Given the description of an element on the screen output the (x, y) to click on. 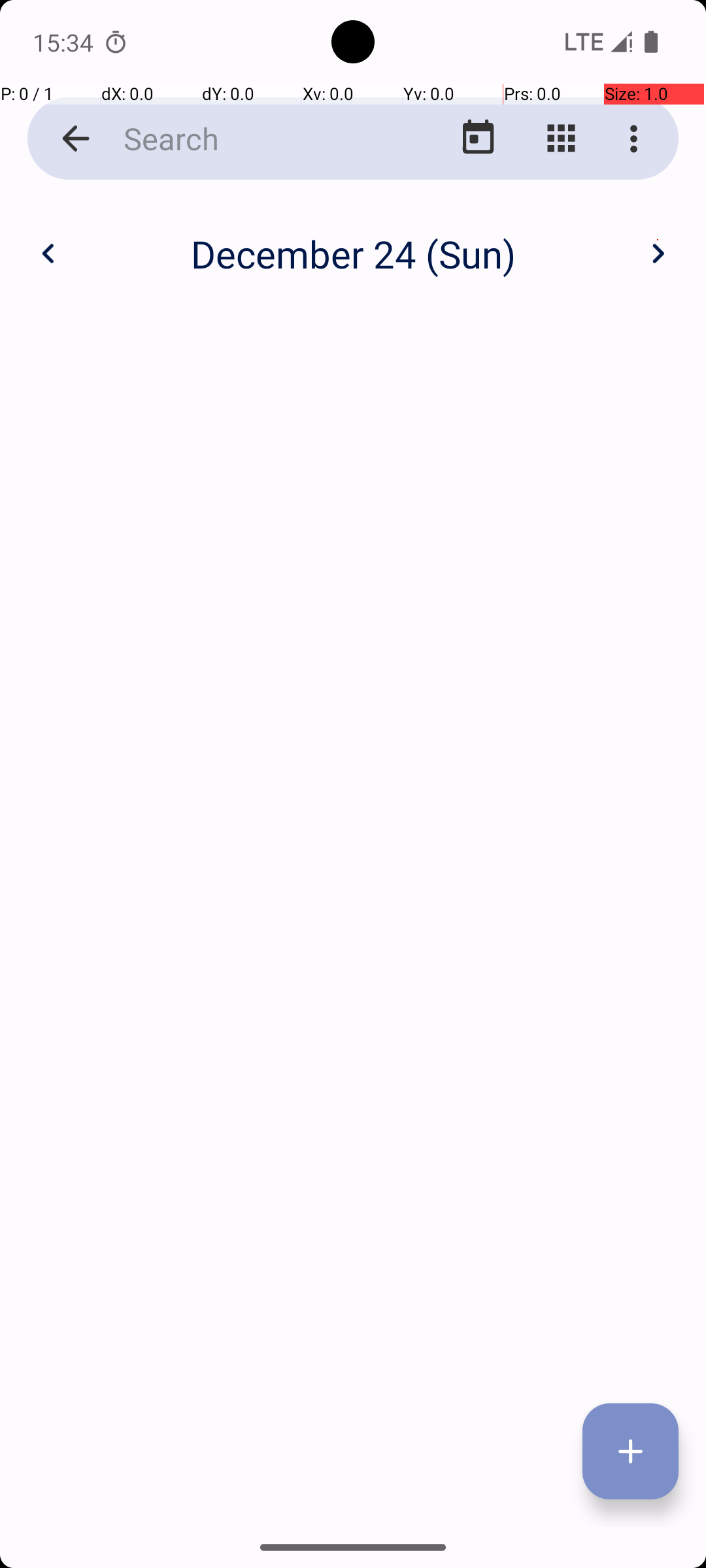
December 24 (Sun) Element type: android.widget.TextView (352, 253)
December Element type: android.widget.TextView (352, 239)
